Given the description of an element on the screen output the (x, y) to click on. 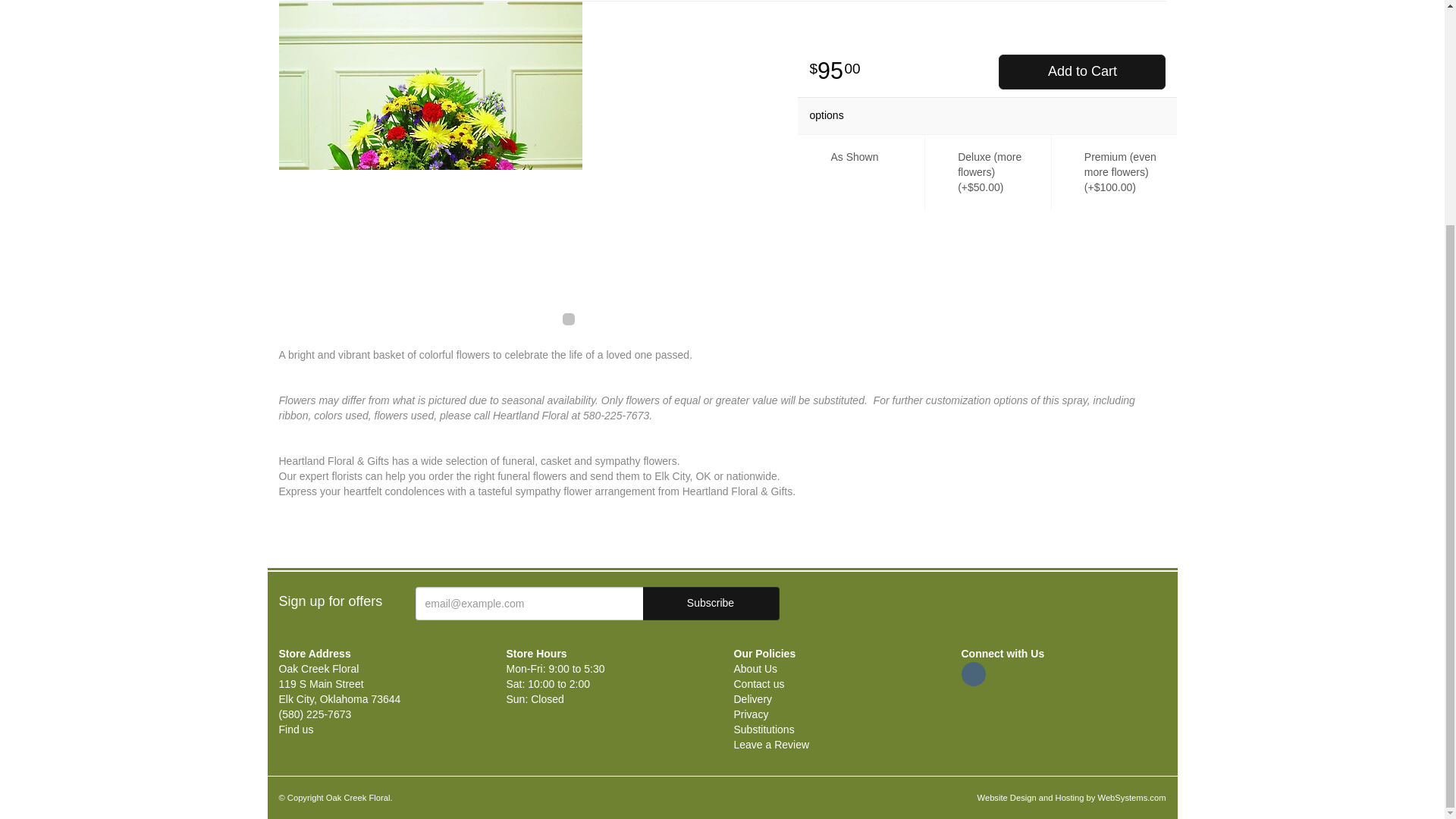
About Us (755, 668)
Substitutions (763, 729)
Find us (296, 729)
Subscribe (710, 603)
Privacy (750, 714)
Subscribe (710, 603)
Add to Cart (1082, 71)
Delivery (753, 698)
Contact us (758, 684)
